Given the description of an element on the screen output the (x, y) to click on. 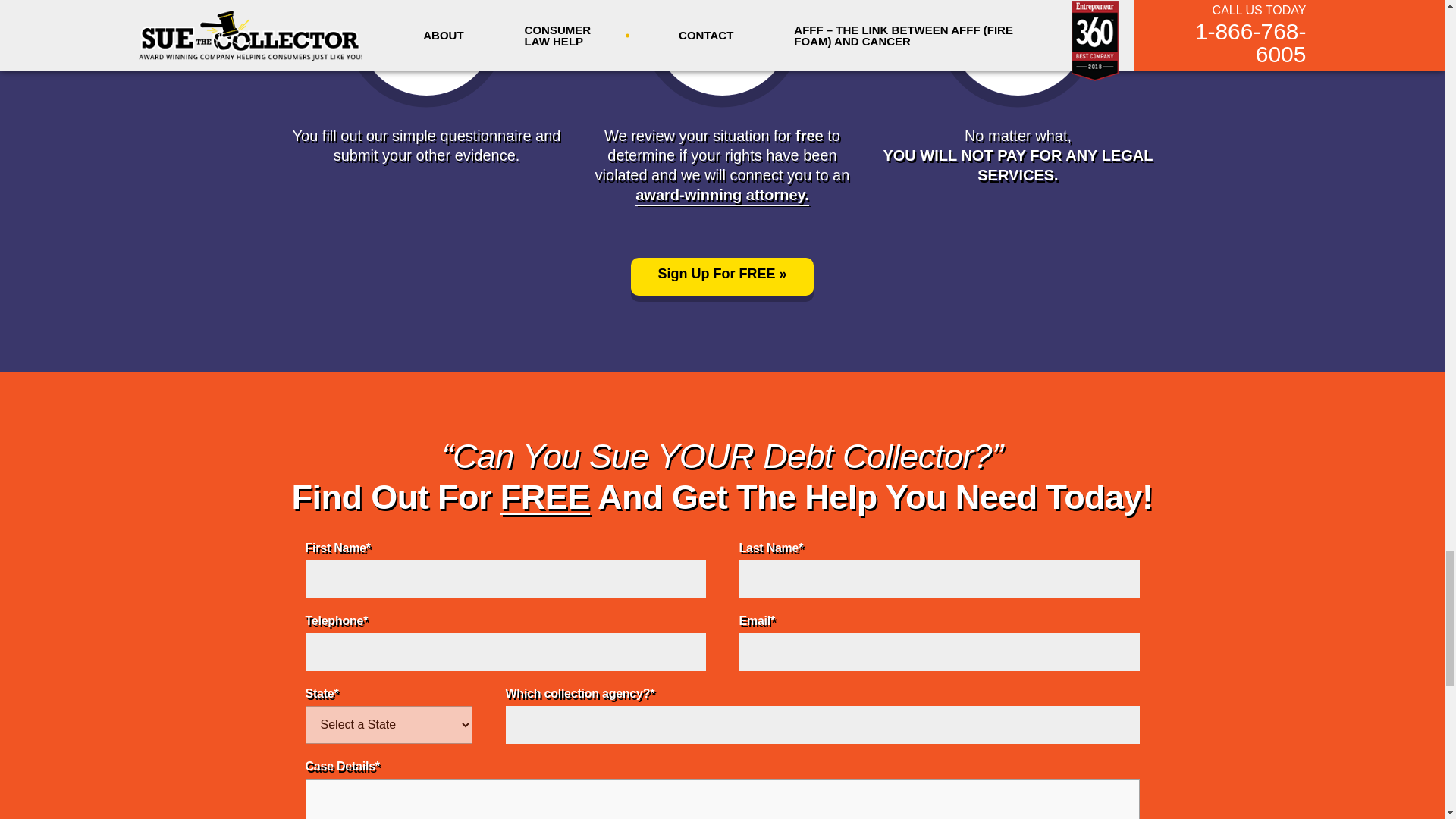
Save Money (1017, 31)
Man (722, 31)
Keyboard (426, 31)
Contact (721, 276)
